Given the description of an element on the screen output the (x, y) to click on. 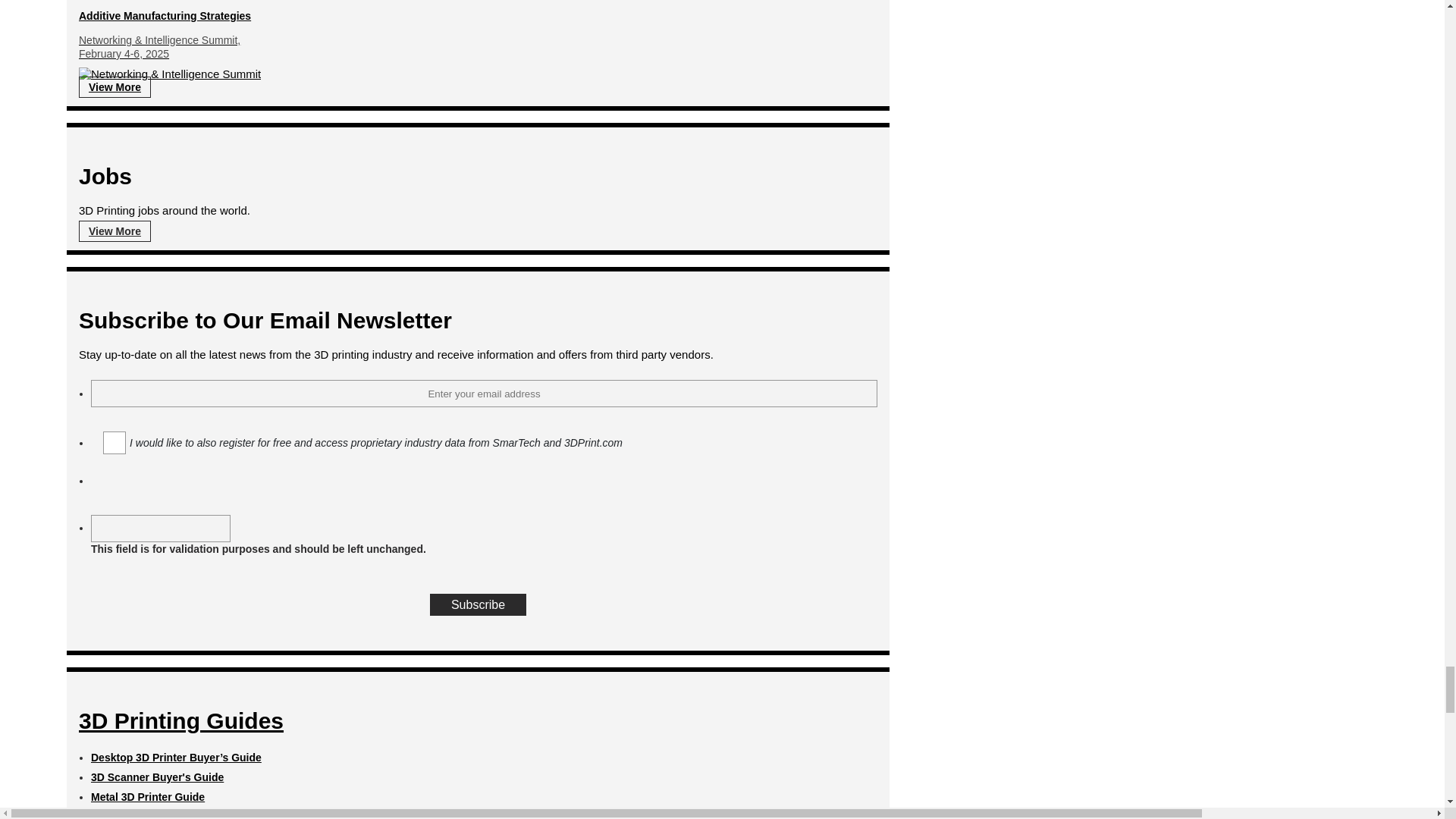
Subscribe (477, 604)
